Given the description of an element on the screen output the (x, y) to click on. 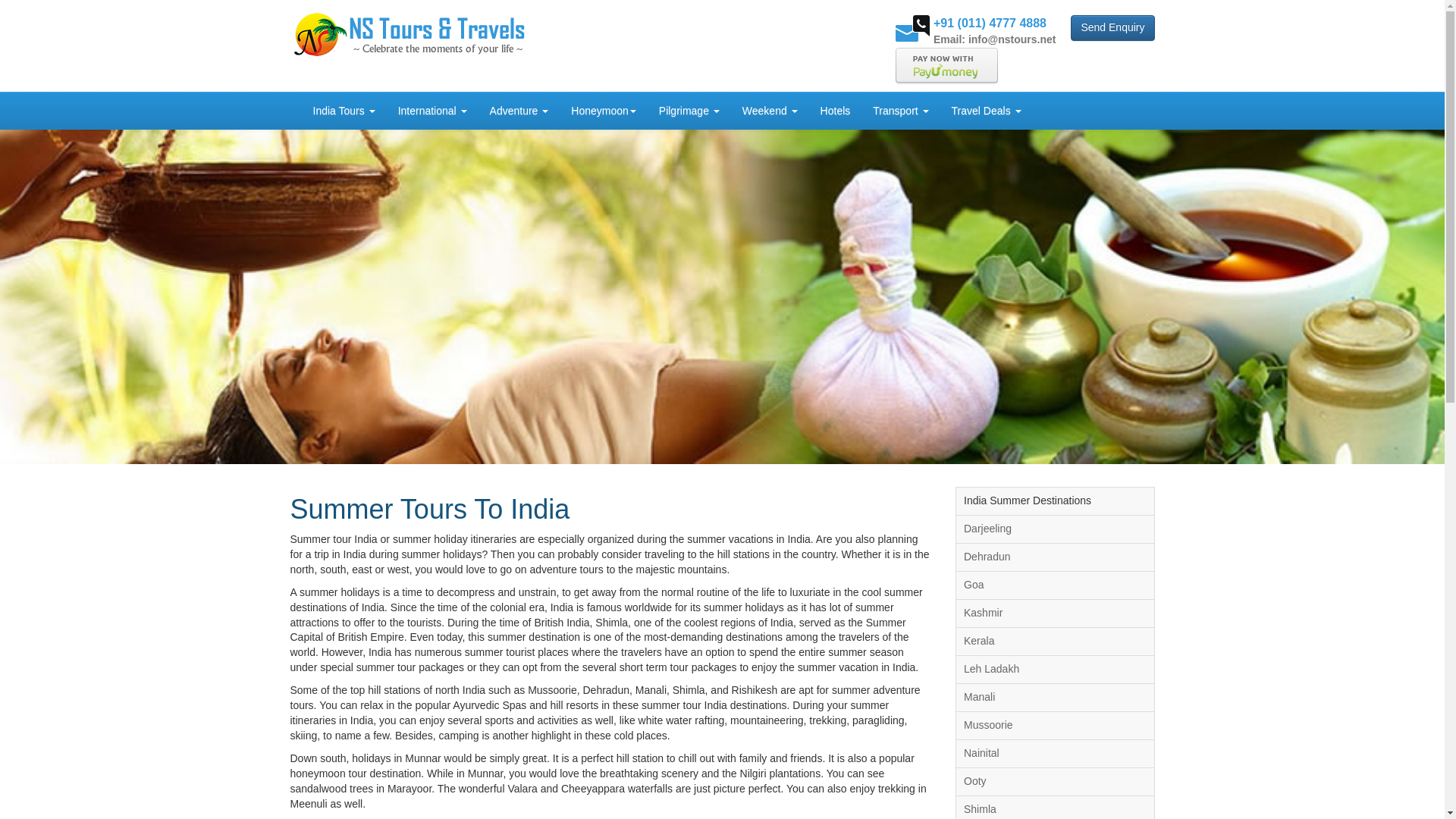
Send Enquiry (1112, 27)
International (433, 110)
Adventure (519, 110)
India Tours (344, 110)
